Given the description of an element on the screen output the (x, y) to click on. 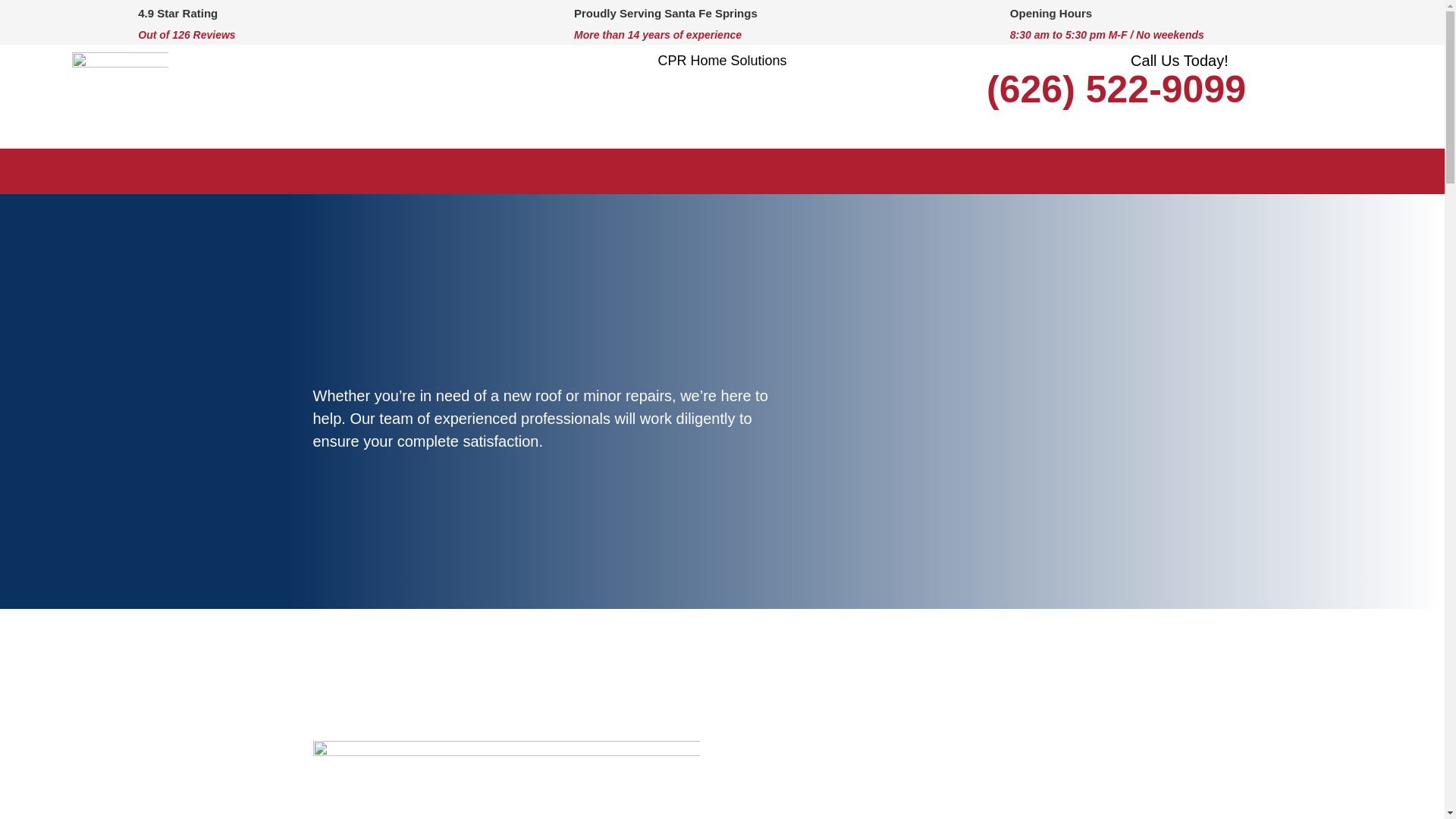
cropped-Favicon.png (119, 100)
about-s2 (505, 780)
